Given the description of an element on the screen output the (x, y) to click on. 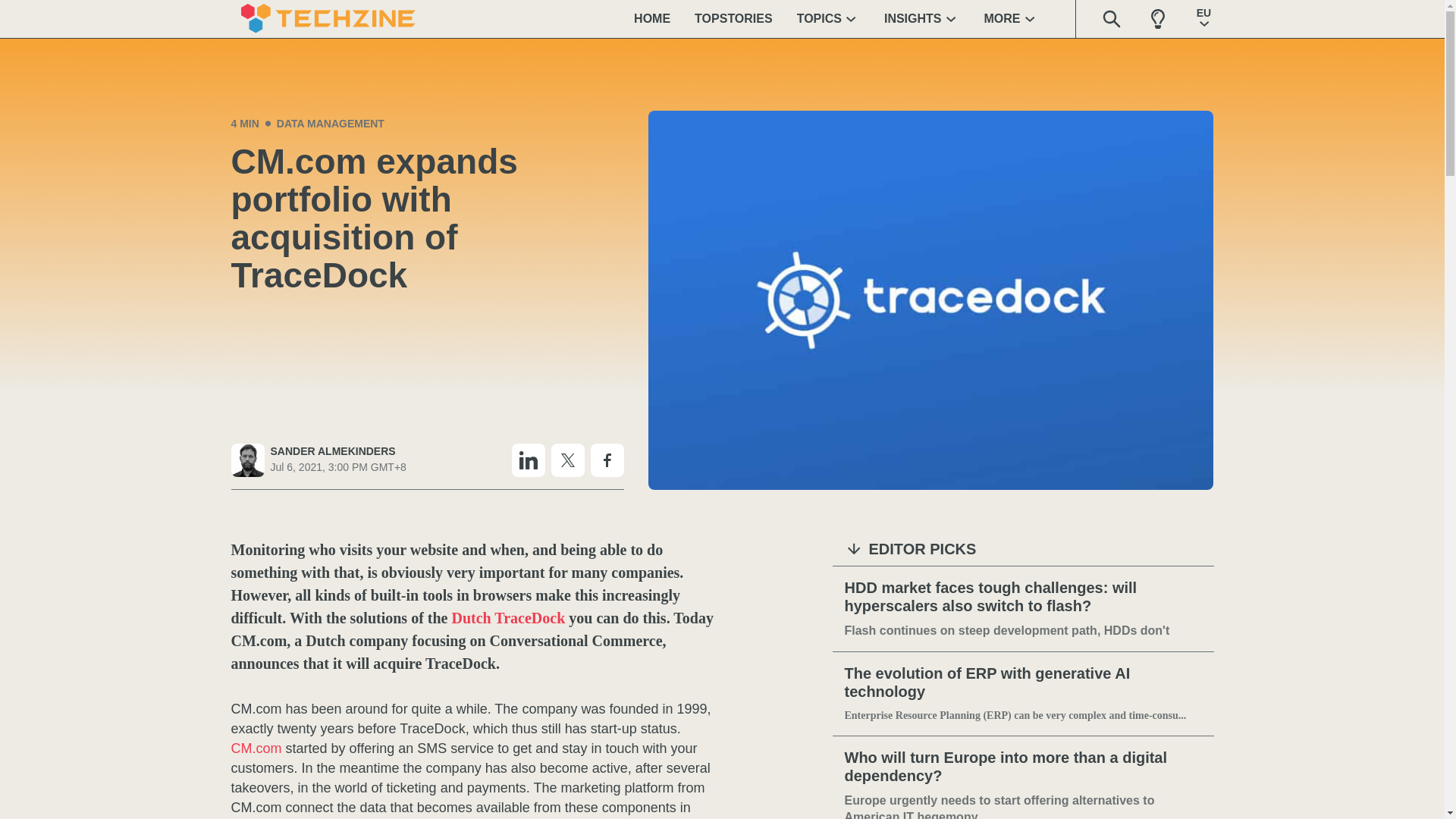
SANDER ALMEKINDERS (337, 451)
TOPSTORIES (733, 18)
INSIGHTS (922, 18)
MORE (1011, 18)
TOPICS (828, 18)
The evolution of ERP with generative AI technology (1023, 682)
HOME (651, 18)
DATA MANAGEMENT (330, 123)
Who will turn Europe into more than a digital dependency? (1023, 767)
